Given the description of an element on the screen output the (x, y) to click on. 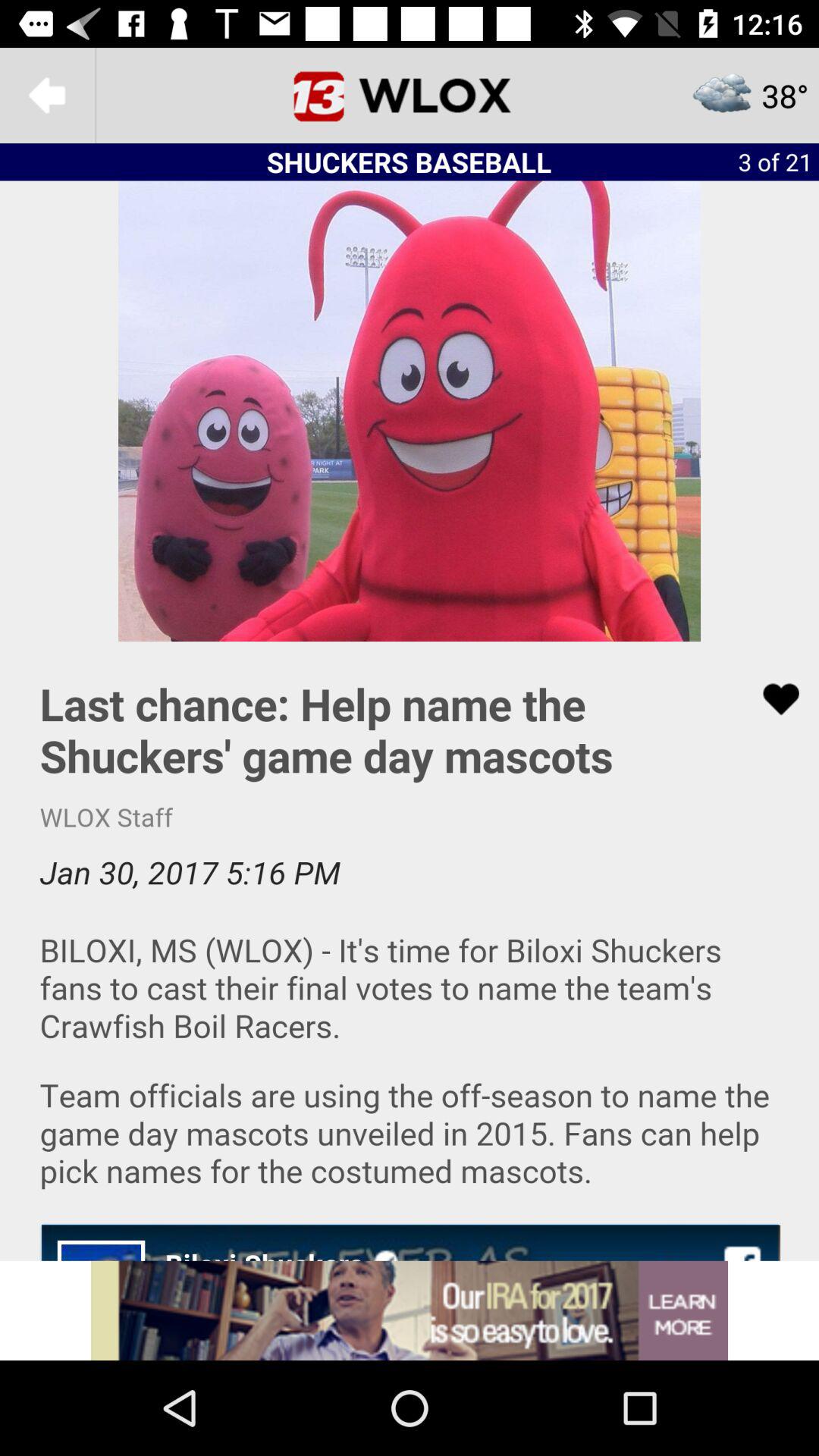
like (771, 699)
